Given the description of an element on the screen output the (x, y) to click on. 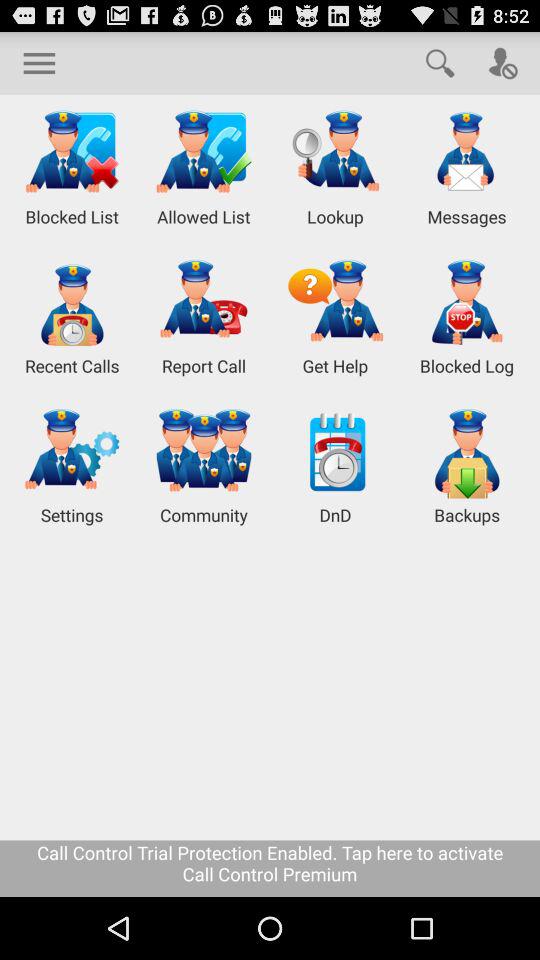
see menu (39, 62)
